Given the description of an element on the screen output the (x, y) to click on. 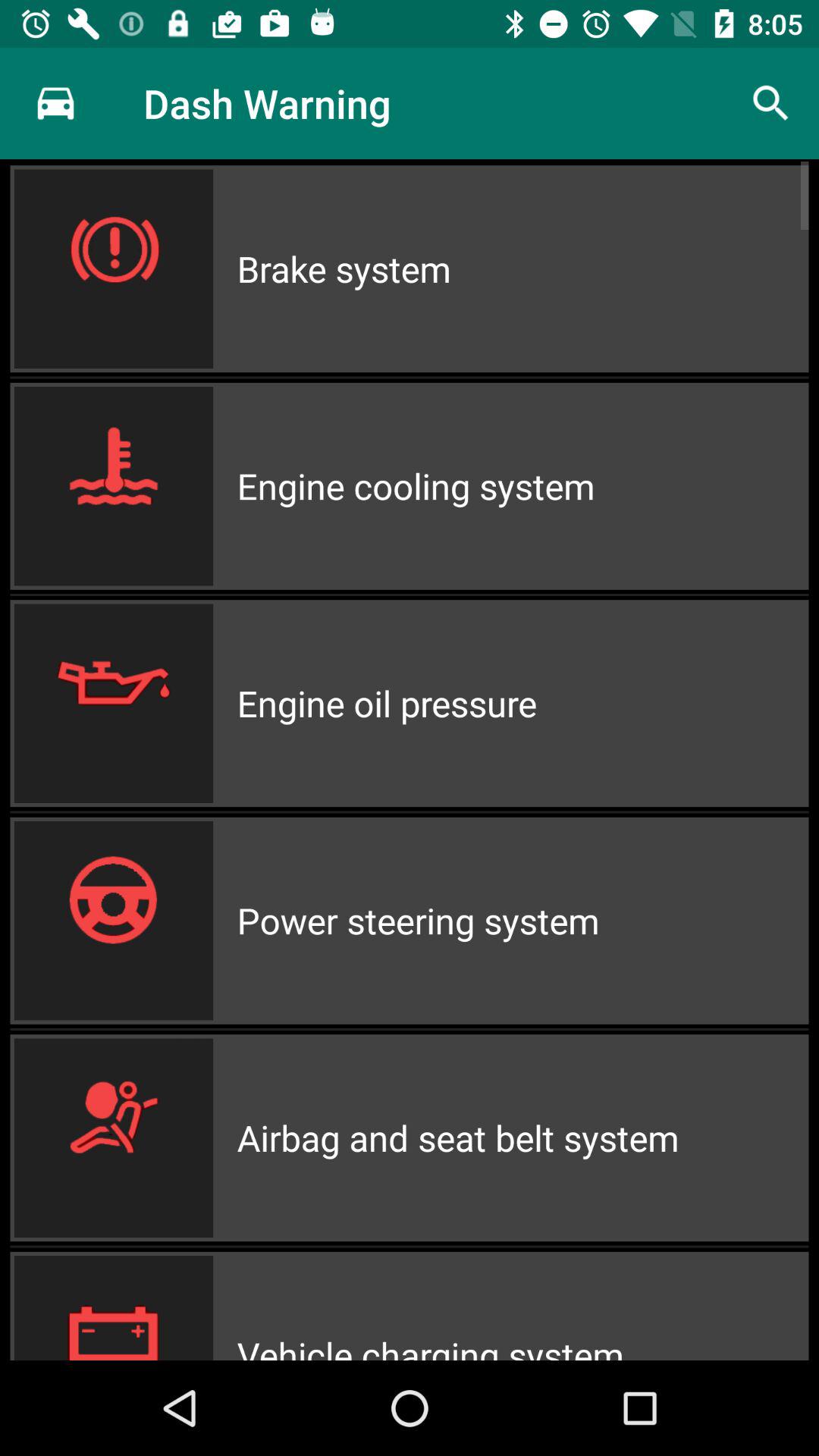
press the engine cooling system item (522, 485)
